Given the description of an element on the screen output the (x, y) to click on. 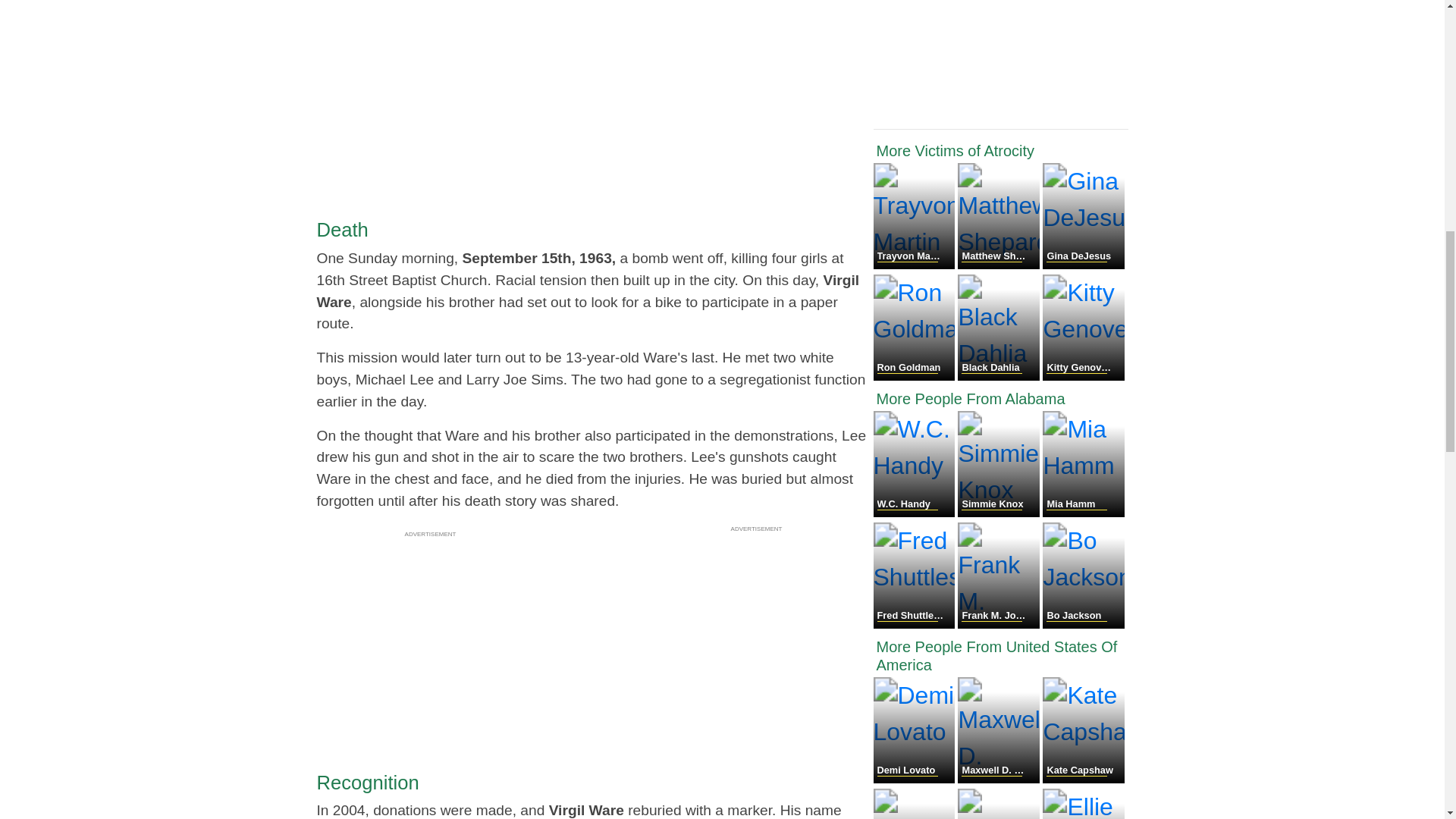
Fred Shuttlesworth (915, 624)
More Victims of Atrocity (1000, 150)
Mia Hamm (1083, 512)
Bo Jackson (1083, 624)
Black Dahlia (1000, 376)
Matthew Shepard (1000, 264)
Maxwell D. Taylor (1000, 779)
Demi Lovato (915, 779)
Frank M. Johnson (1000, 624)
More People From United States Of America (1000, 656)
